Given the description of an element on the screen output the (x, y) to click on. 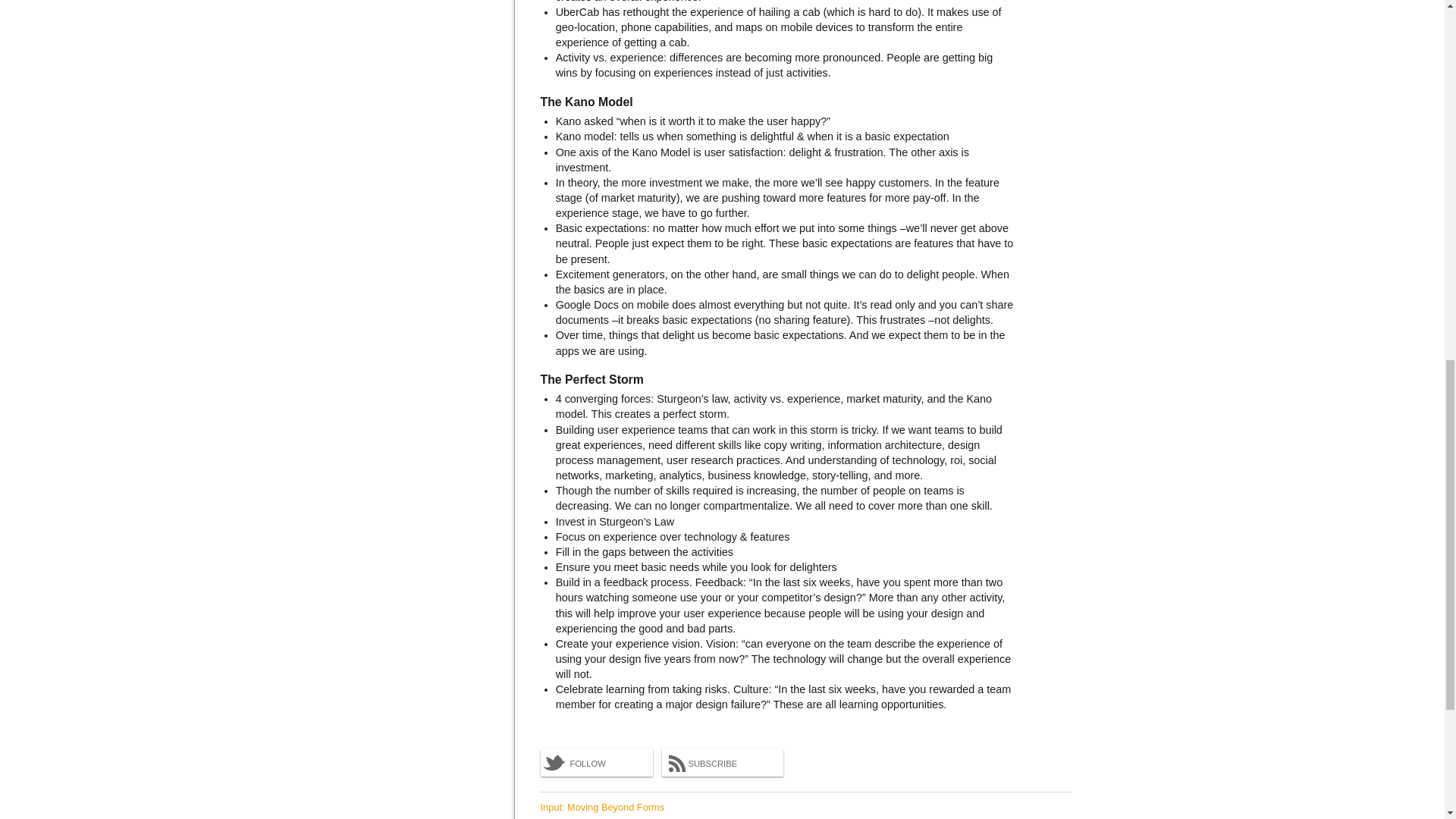
SUBSCRIBE (722, 762)
Subscribe to News (722, 762)
FOLLOW (596, 762)
Follow on Twitter (596, 762)
Input: Moving Beyond Forms (601, 807)
